Given the description of an element on the screen output the (x, y) to click on. 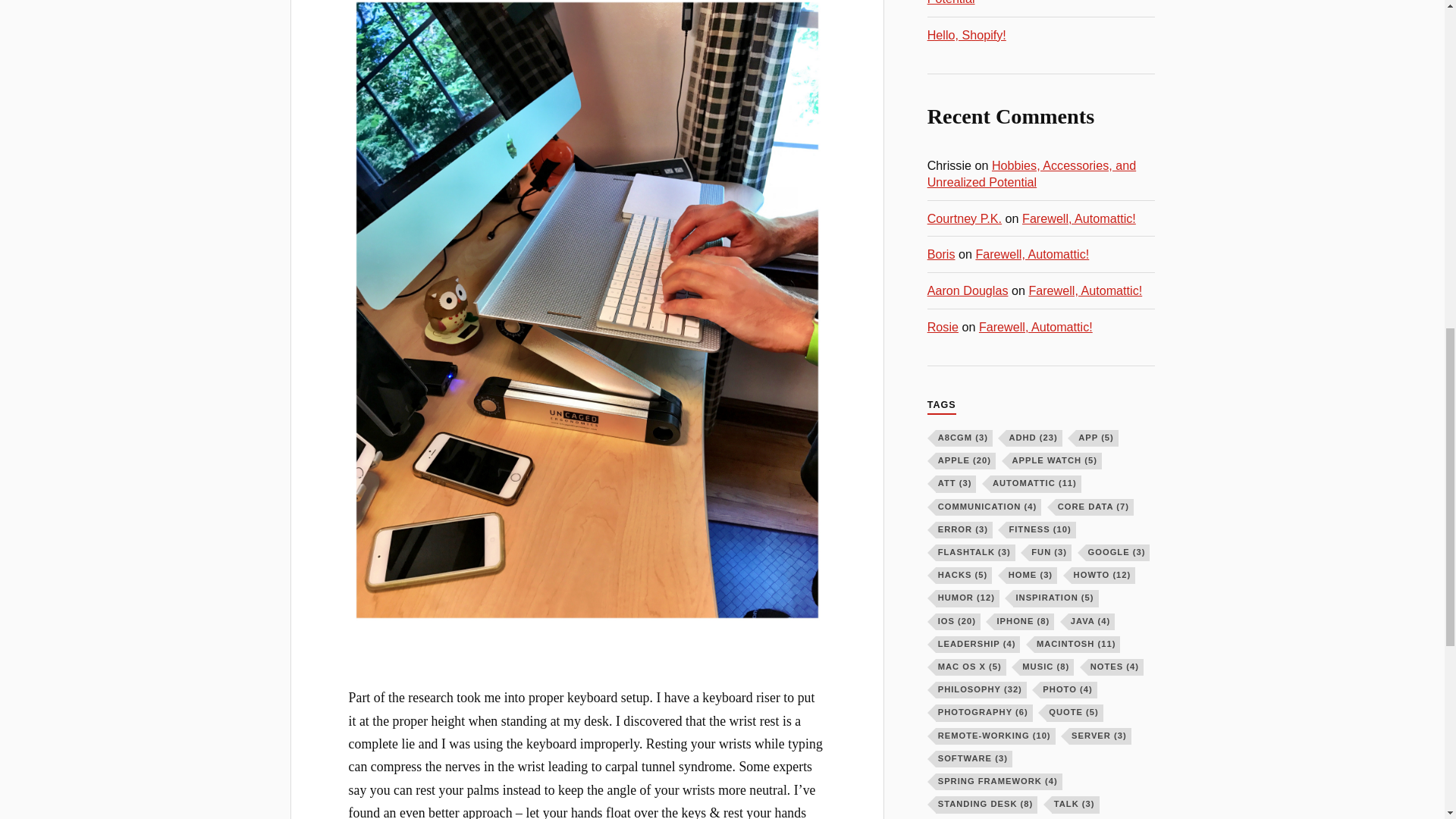
Aaron Douglas (968, 290)
Hello, Shopify! (966, 34)
Farewell, Automattic! (1084, 290)
Courtney P.K. (964, 218)
Hobbies, Accessories, and Unrealized Potential (1031, 173)
Farewell, Automattic! (1078, 218)
Boris (941, 254)
Hobbies, Accessories, and Unrealized Potential (1030, 2)
Farewell, Automattic! (1035, 326)
Rosie (942, 326)
Farewell, Automattic! (1032, 254)
